Given the description of an element on the screen output the (x, y) to click on. 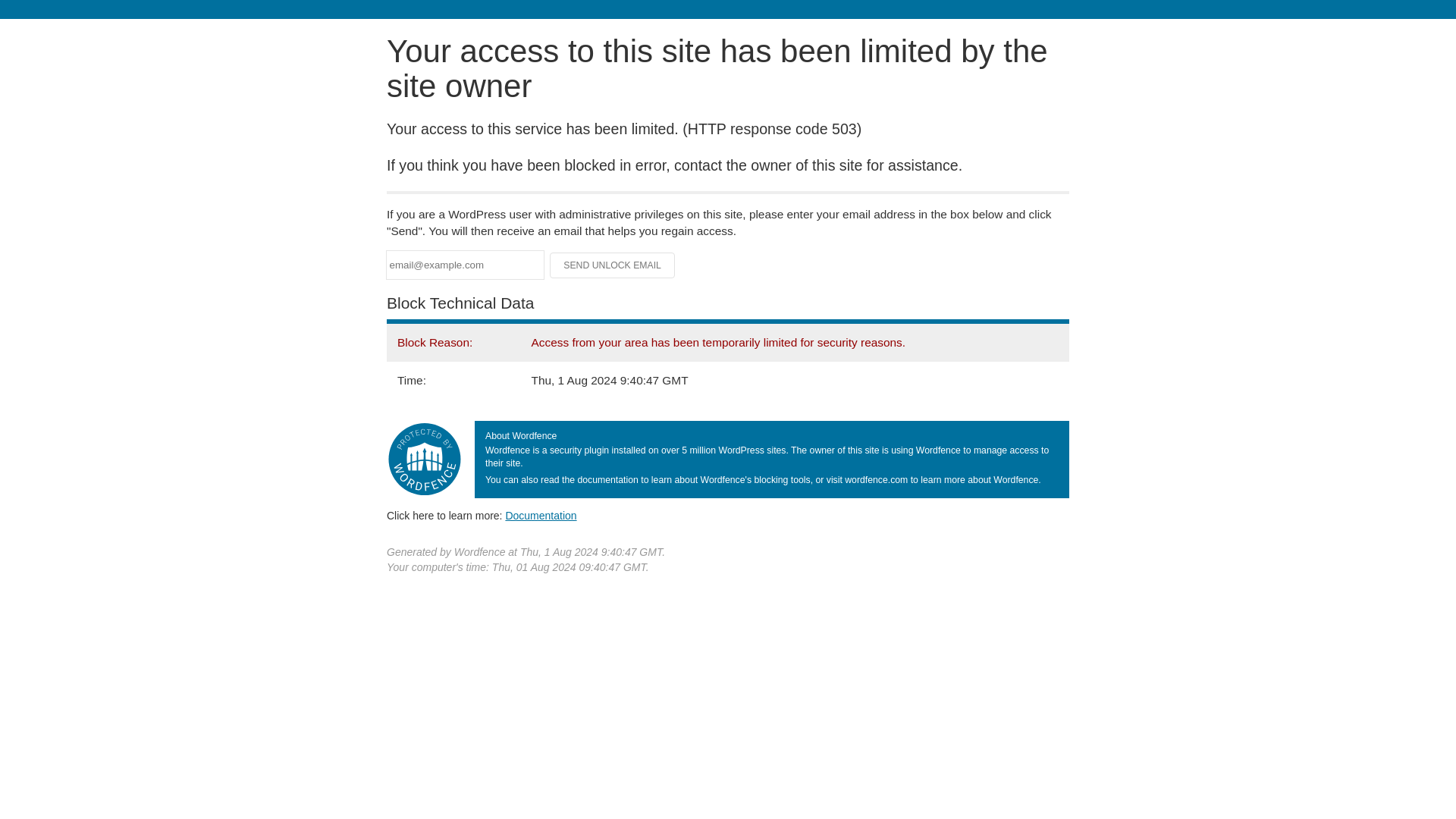
Send Unlock Email (612, 265)
Send Unlock Email (612, 265)
Documentation (540, 515)
